Given the description of an element on the screen output the (x, y) to click on. 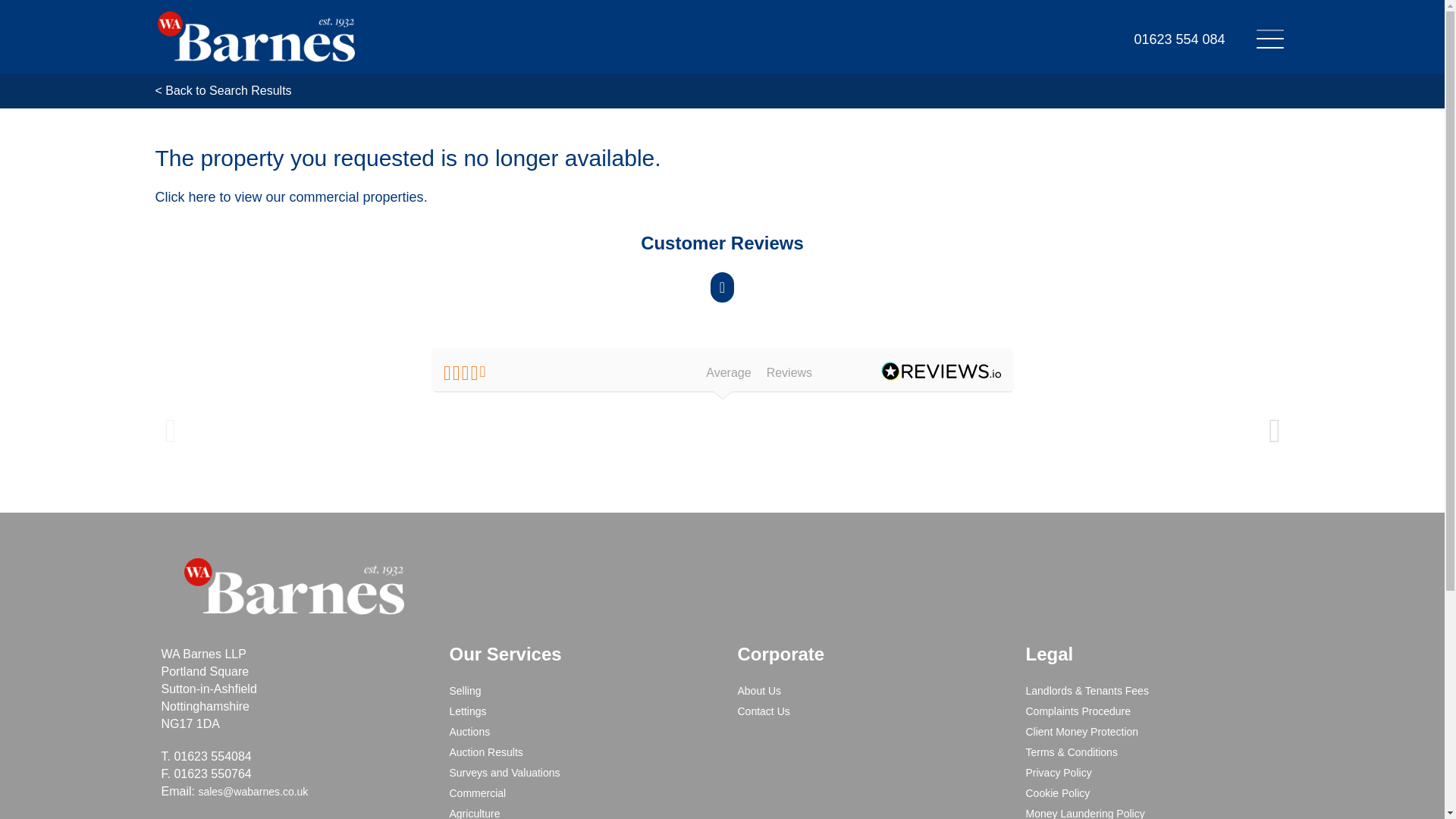
Surveys and Valuations (503, 772)
Reviews Carousel Widget (721, 389)
Auctions (468, 731)
01623 554 084 (1179, 33)
Contact Us (762, 711)
Privacy Policy (1057, 772)
Commercial (476, 793)
Agriculture (473, 813)
Lettings (467, 711)
Money Laundering Policy (1084, 813)
Auction Results (485, 752)
Click here to view our commercial properties (288, 196)
Complaints Procedure (1078, 711)
About Us (758, 690)
01623 554084 (211, 756)
